Given the description of an element on the screen output the (x, y) to click on. 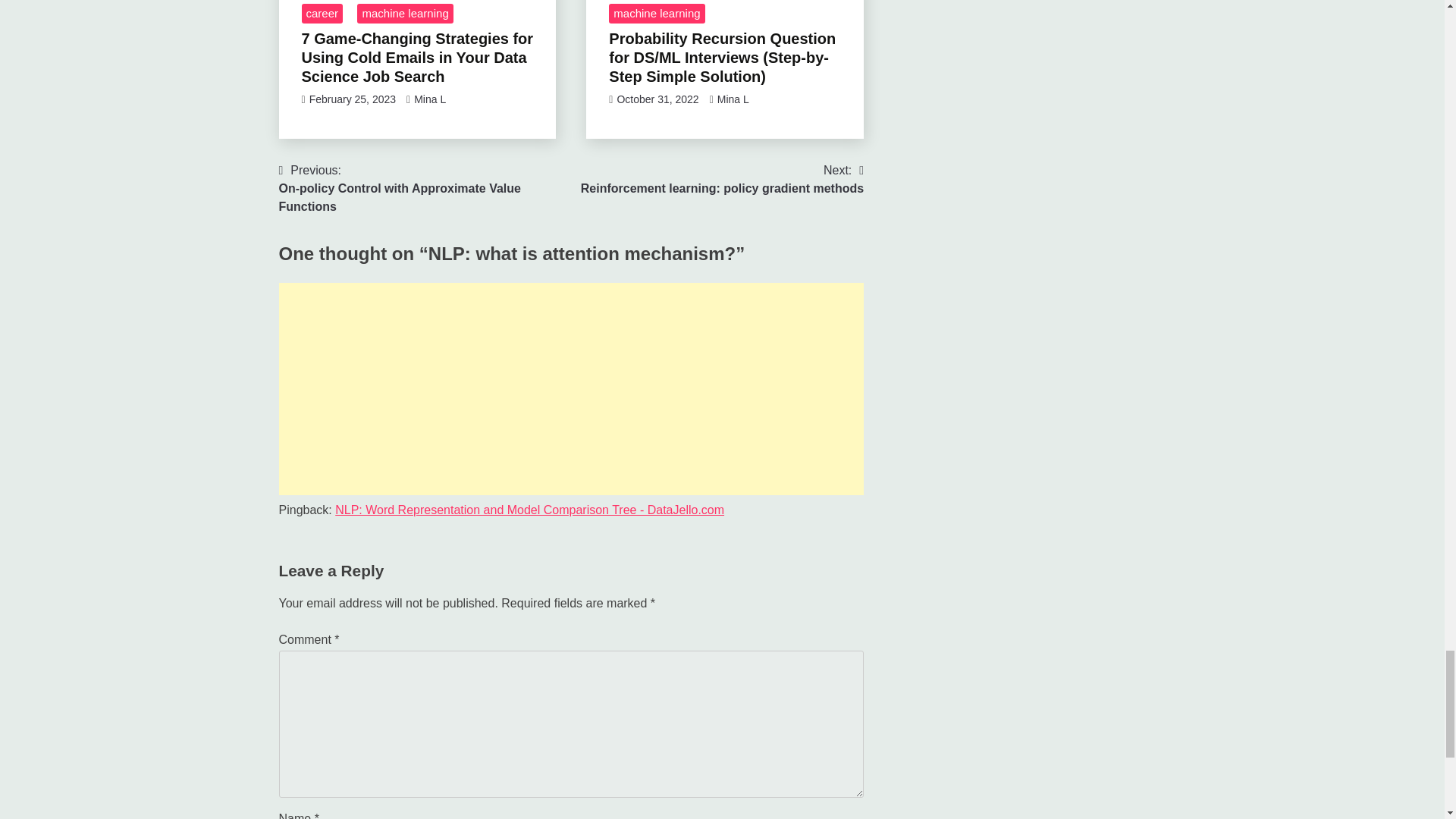
Mina L (425, 188)
career (429, 99)
machine learning (322, 13)
Mina L (656, 13)
machine learning (733, 99)
October 31, 2022 (721, 179)
February 25, 2023 (404, 13)
